Given the description of an element on the screen output the (x, y) to click on. 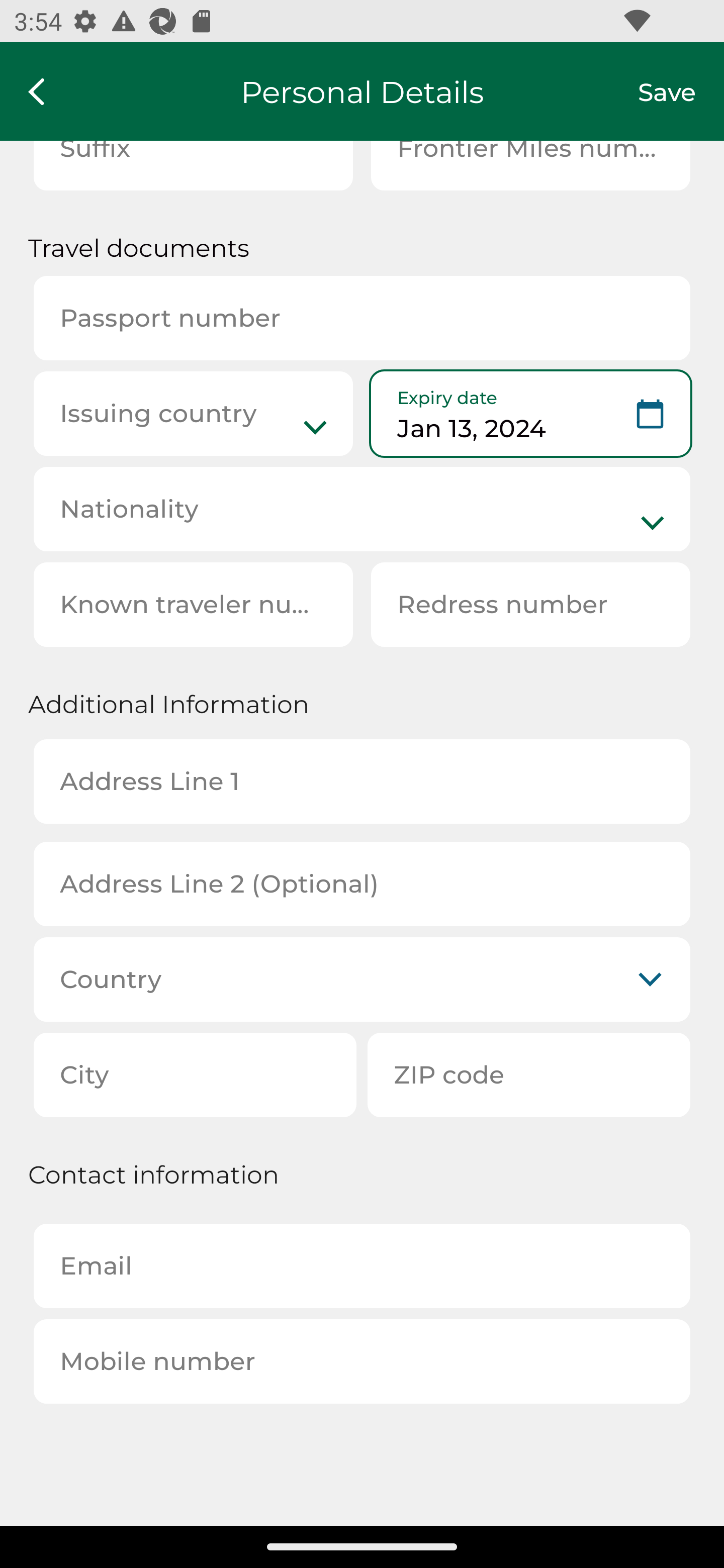
Save (680, 91)
Passport number (361, 318)
Issuing country (192, 413)
Jan 13, 2024 (530, 413)
Nationality (361, 508)
Known traveler number (192, 604)
Redress number (530, 604)
Address Line 1 (361, 781)
Address Line 2 (Optional) (361, 884)
Country (361, 978)
City (194, 1074)
ZIP code (528, 1074)
Email (361, 1265)
Mobile number (361, 1360)
